Given the description of an element on the screen output the (x, y) to click on. 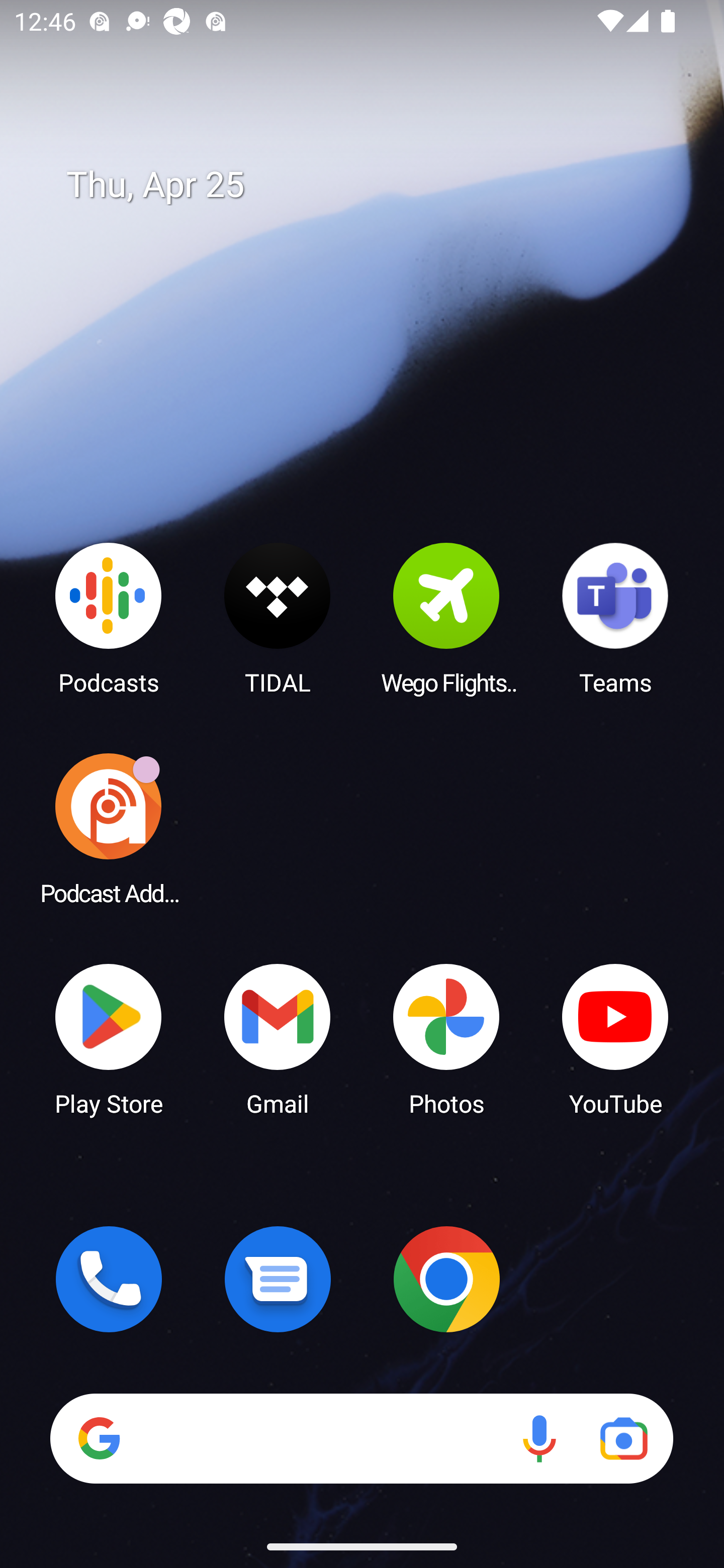
Thu, Apr 25 (375, 184)
Podcasts (108, 617)
TIDAL (277, 617)
Wego Flights & Hotels (445, 617)
Teams (615, 617)
Play Store (108, 1038)
Gmail (277, 1038)
Photos (445, 1038)
YouTube (615, 1038)
Phone (108, 1279)
Messages (277, 1279)
Chrome (446, 1279)
Search Voice search Google Lens (361, 1438)
Voice search (539, 1438)
Google Lens (623, 1438)
